Given the description of an element on the screen output the (x, y) to click on. 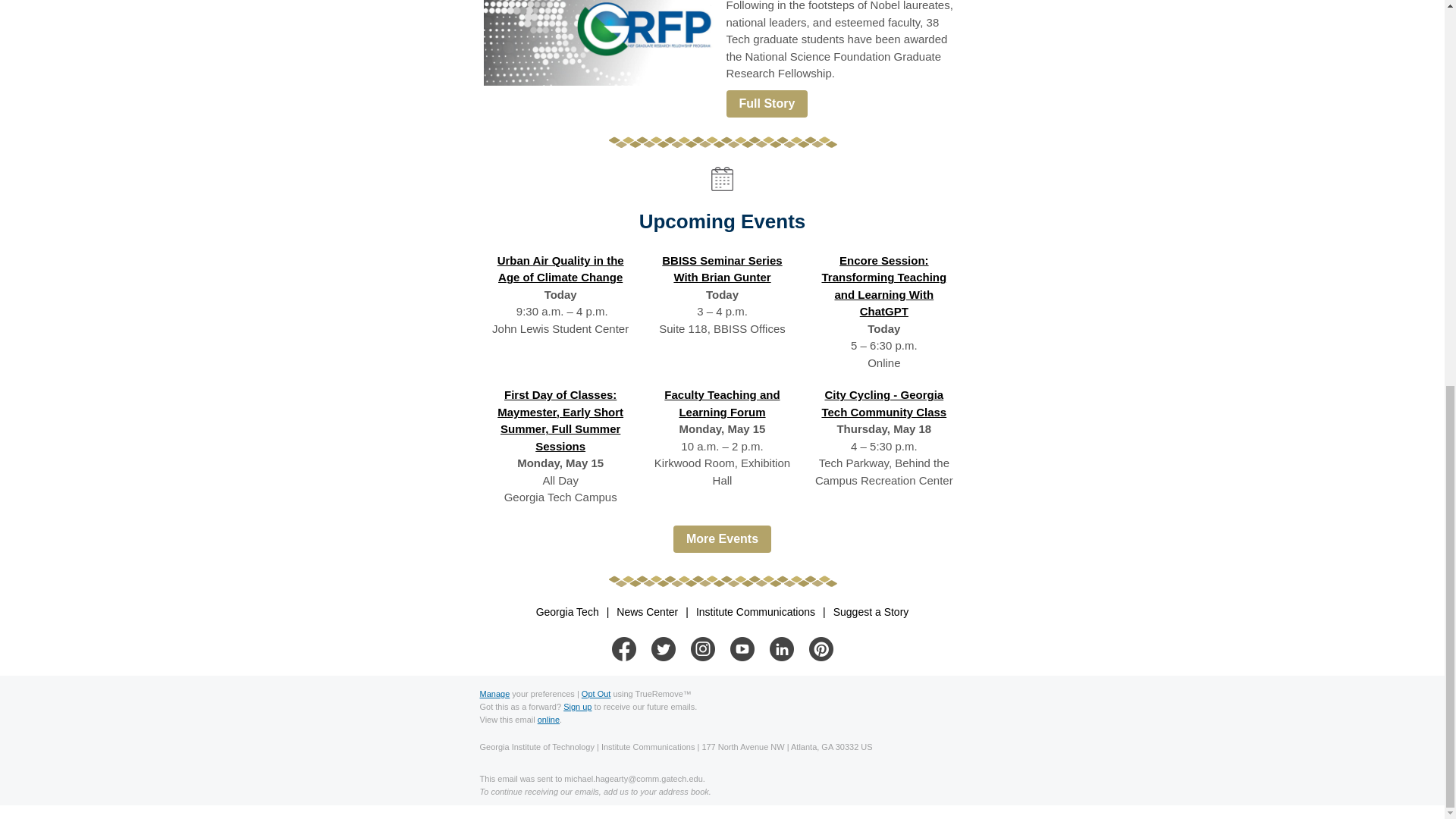
City Cycling - Georgia Tech Community Class (883, 403)
Full Story (767, 103)
YouTube (741, 648)
National Science Foundation (601, 42)
BBISS Seminar Series With Brian Gunter (721, 268)
Opt Out (595, 693)
online (548, 718)
Suggest a Story (871, 611)
LinkedIn (780, 648)
Urban Air Quality in the Age of Climate Change (560, 268)
